Given the description of an element on the screen output the (x, y) to click on. 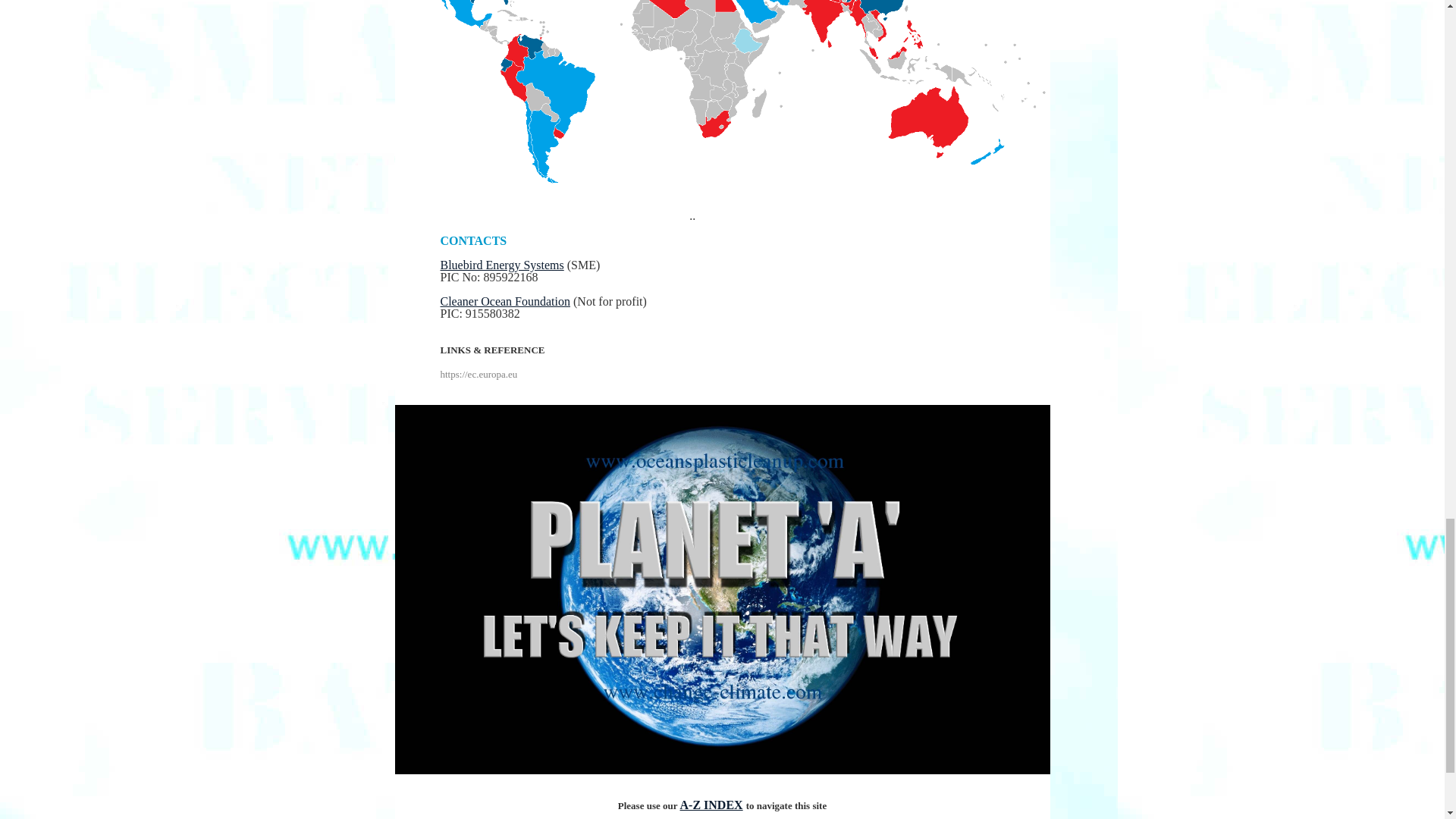
Cleaner Ocean Foundation (504, 300)
A-Z INDEX (710, 804)
Bluebird Energy Systems (501, 264)
